Given the description of an element on the screen output the (x, y) to click on. 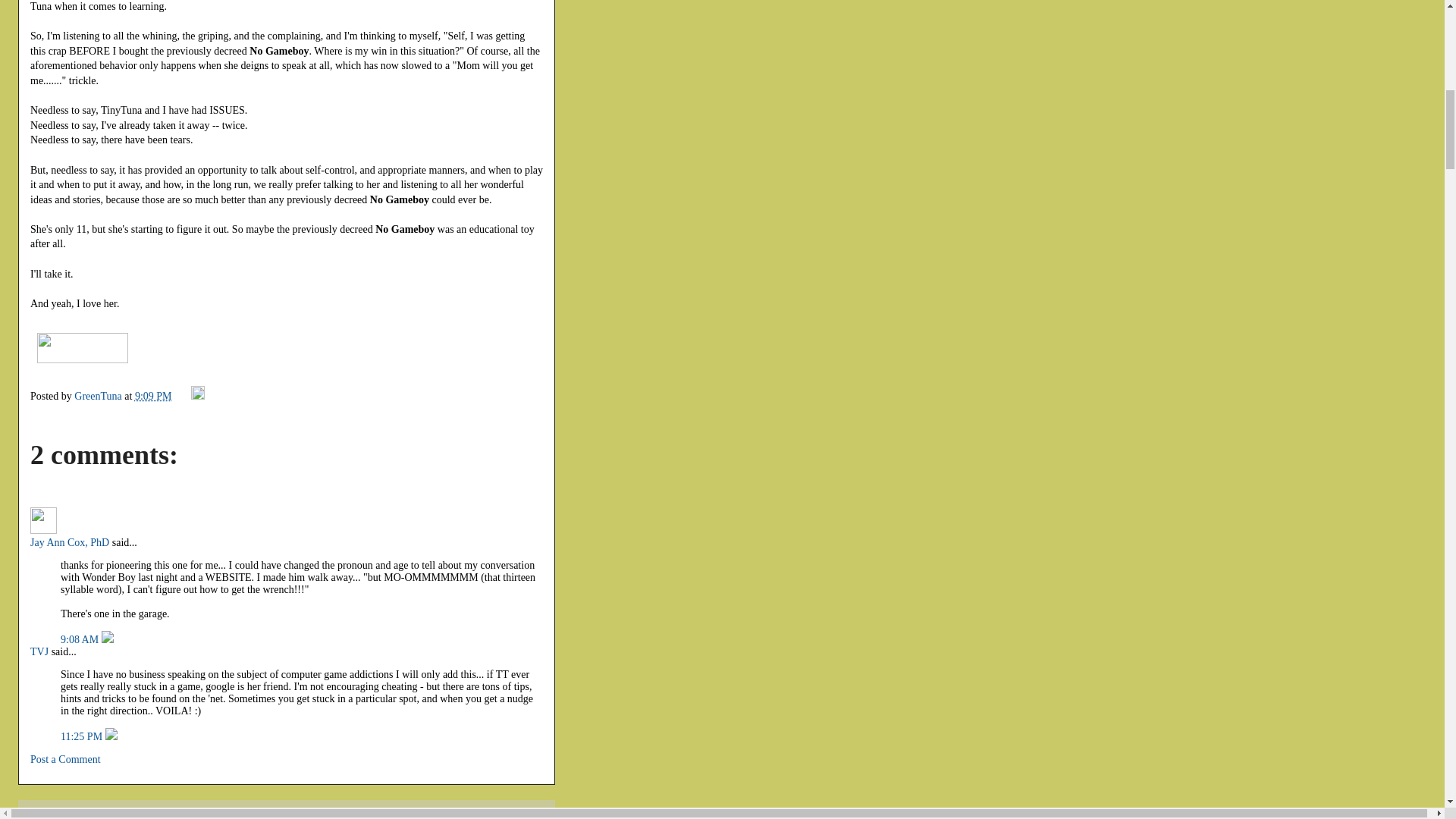
author profile (98, 396)
9:08 AM (81, 639)
Delete Comment (110, 736)
Post a Comment (65, 758)
Older Post (120, 815)
Older Post (120, 815)
Delete Comment (107, 639)
Jay Ann Cox, PhD (43, 519)
Edit Post (197, 396)
Newer Post (59, 815)
permanent link (153, 396)
Email Post (182, 396)
comment permalink (81, 639)
9:09 PM (153, 396)
TVJ (39, 651)
